Given the description of an element on the screen output the (x, y) to click on. 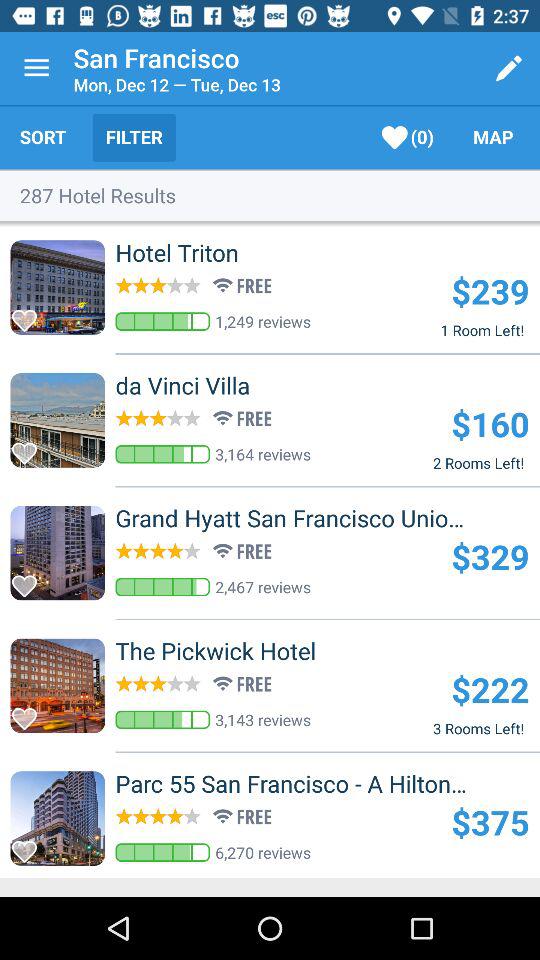
open the icon to the left of the $222 (248, 651)
